Given the description of an element on the screen output the (x, y) to click on. 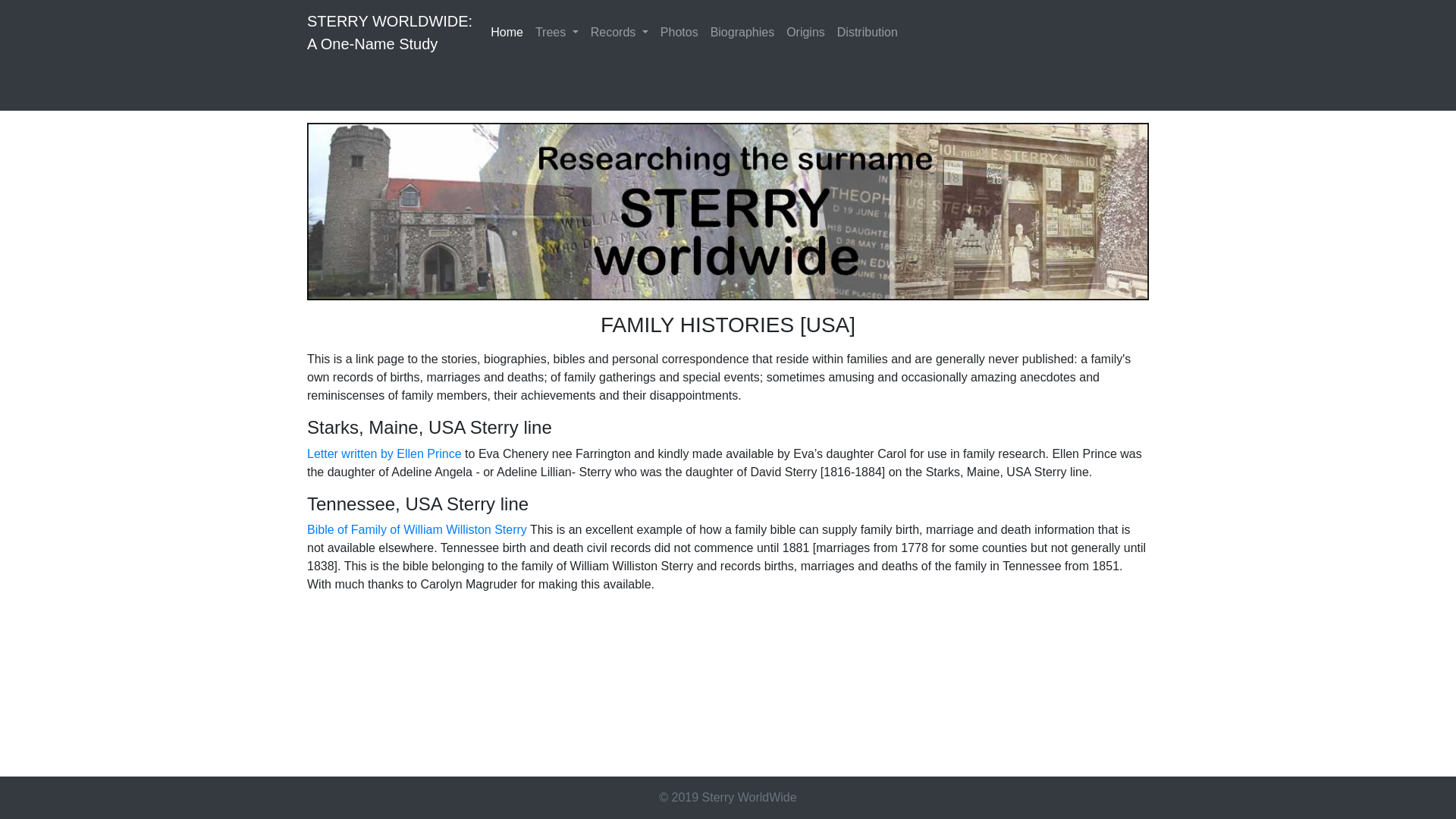
Distribution (389, 31)
Origins (867, 32)
Home (805, 32)
Trees (506, 32)
Biographies (557, 32)
Letter written by Ellen Prince (742, 32)
Photos (384, 453)
Bible of Family of William Williston Sterry (678, 32)
Records (417, 529)
